Given the description of an element on the screen output the (x, y) to click on. 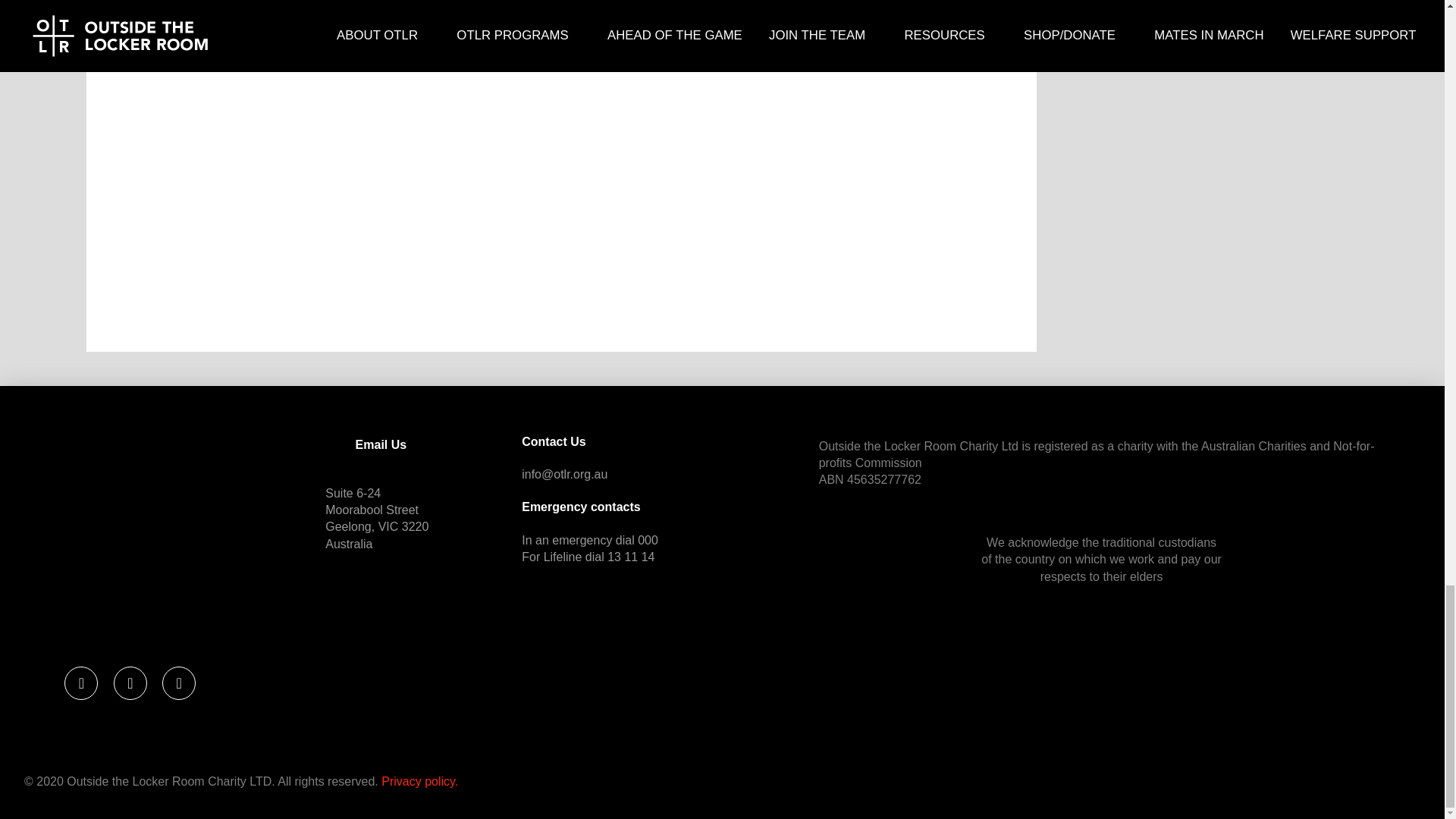
Email Us (381, 444)
Privacy Policy (419, 780)
Privacy policy. (419, 780)
